Given the description of an element on the screen output the (x, y) to click on. 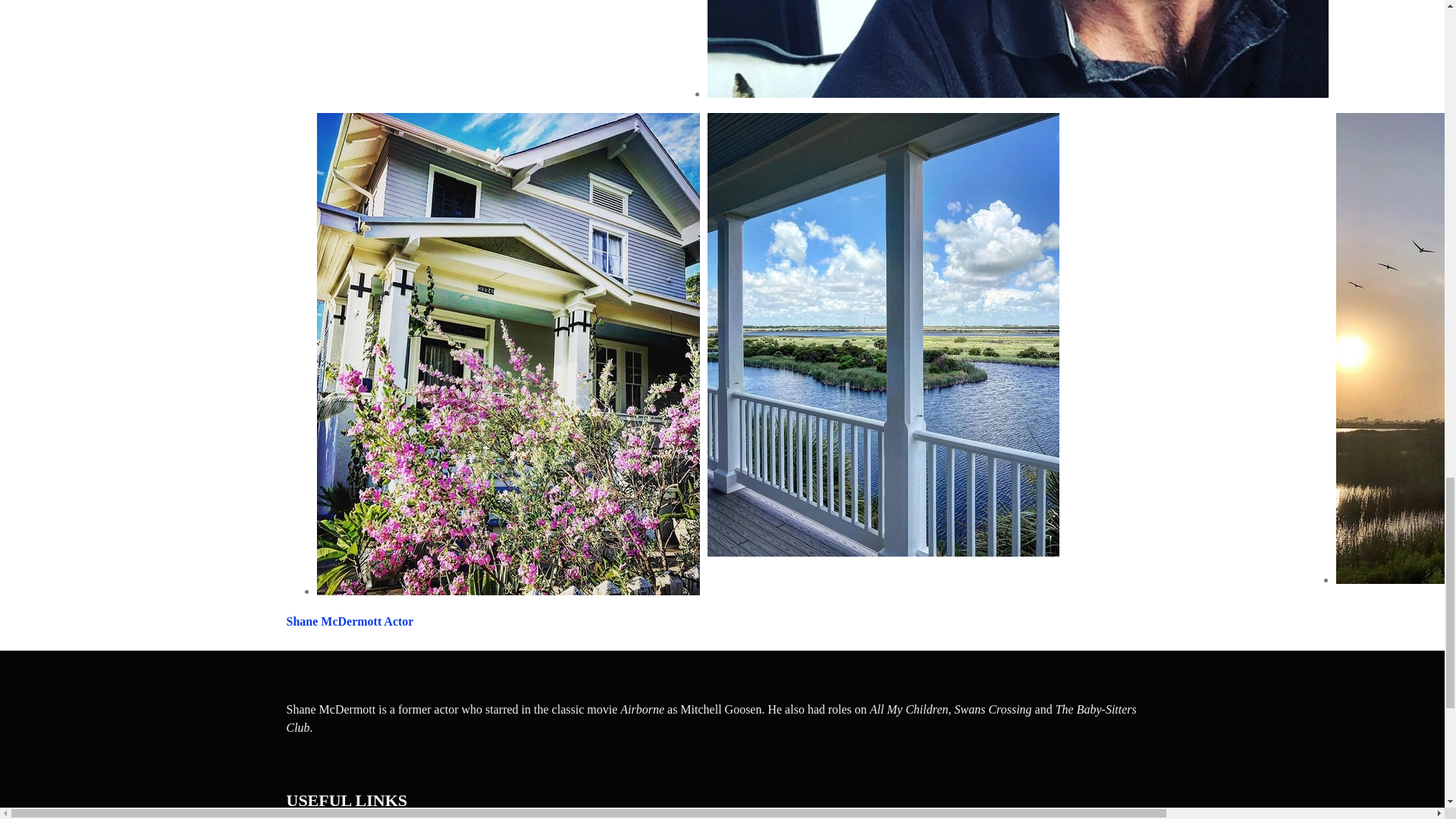
Shane McDermott REALTOR in Galveston, TX (1016, 48)
Shane McDermott Actor (349, 621)
